Given the description of an element on the screen output the (x, y) to click on. 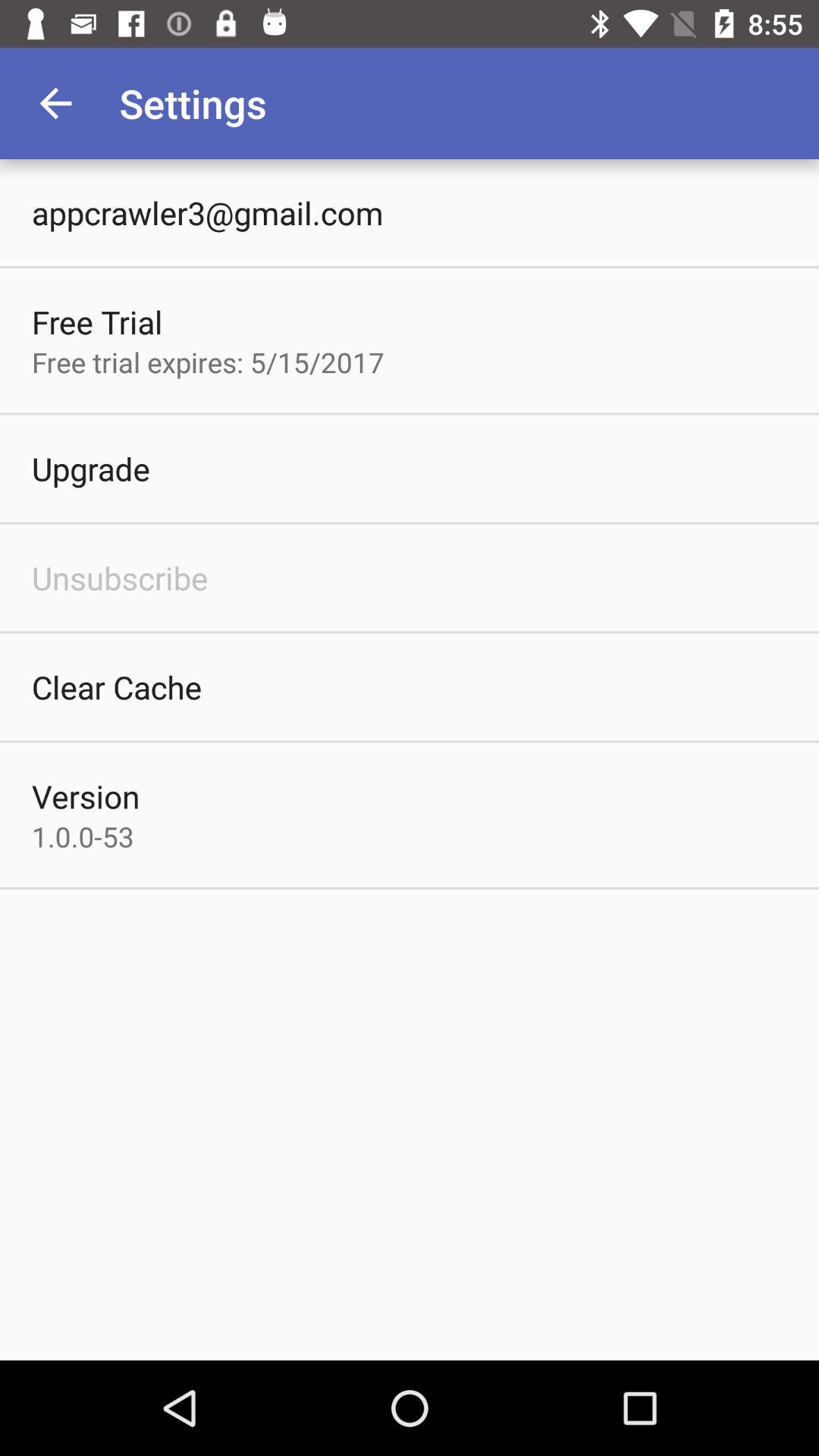
click icon below the upgrade item (119, 577)
